Given the description of an element on the screen output the (x, y) to click on. 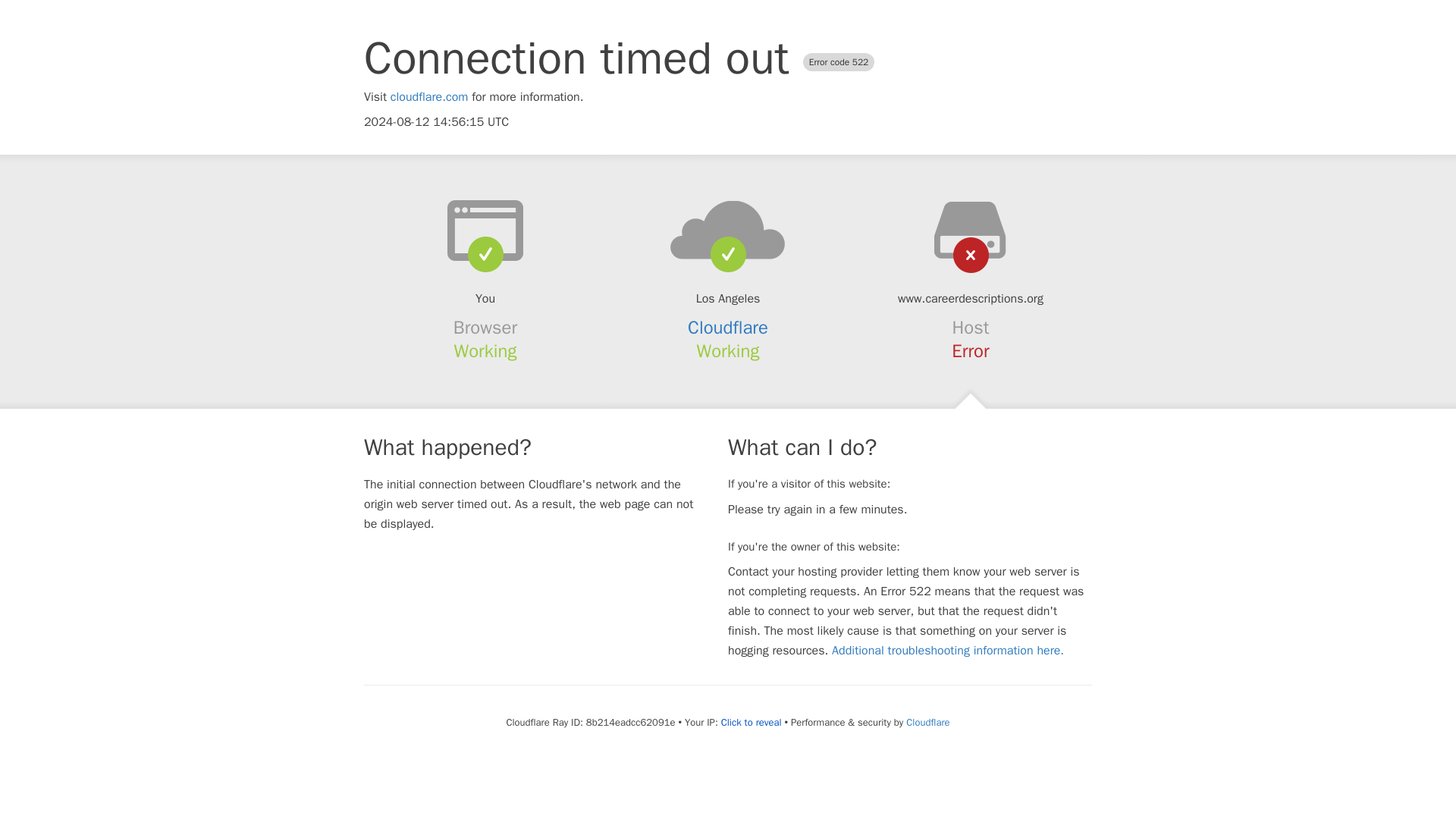
Cloudflare (727, 327)
Click to reveal (750, 722)
cloudflare.com (429, 96)
Additional troubleshooting information here. (947, 650)
Cloudflare (927, 721)
